Given the description of an element on the screen output the (x, y) to click on. 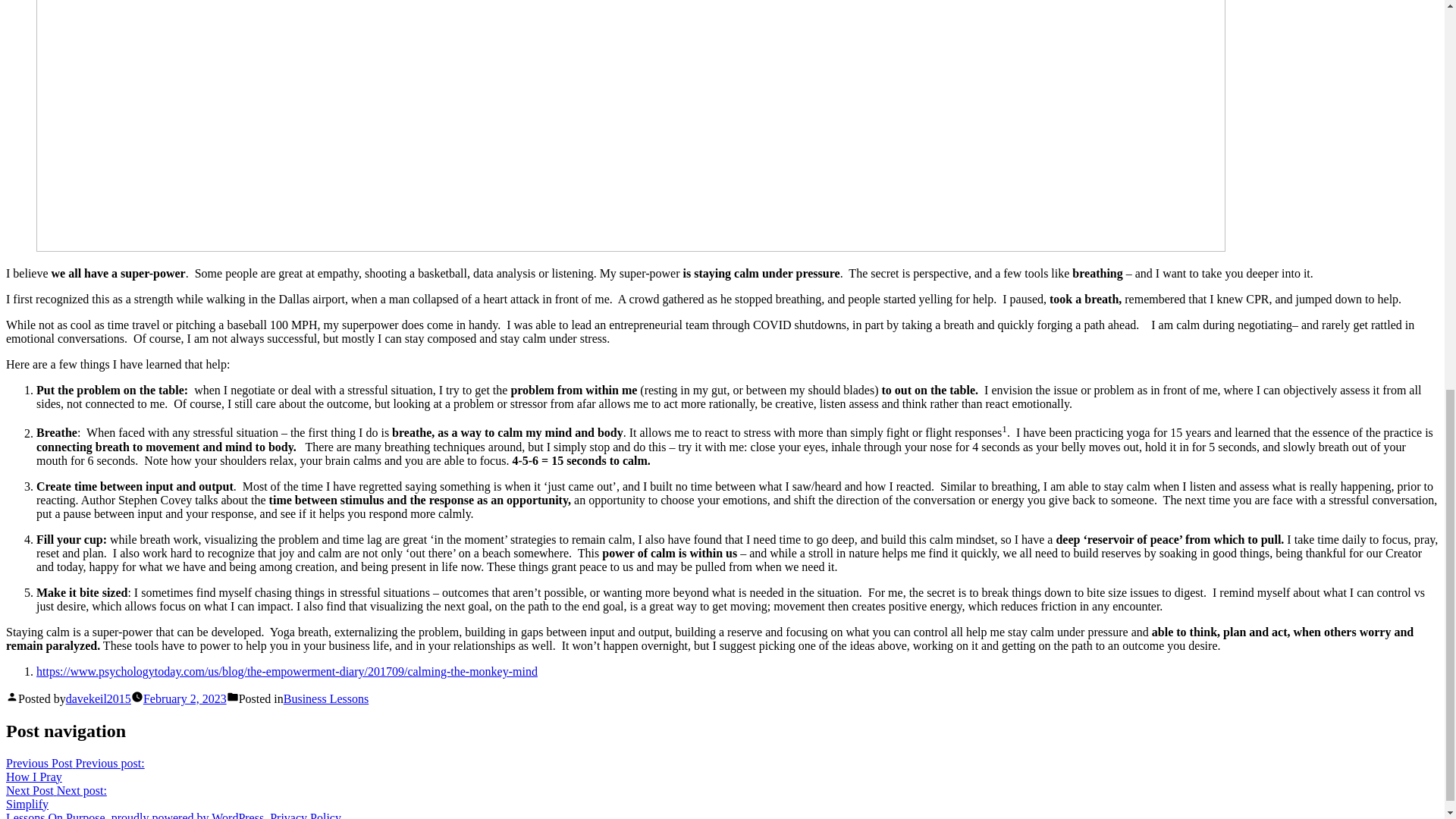
Business Lessons (325, 698)
February 2, 2023 (55, 796)
davekeil2015 (184, 698)
